Given the description of an element on the screen output the (x, y) to click on. 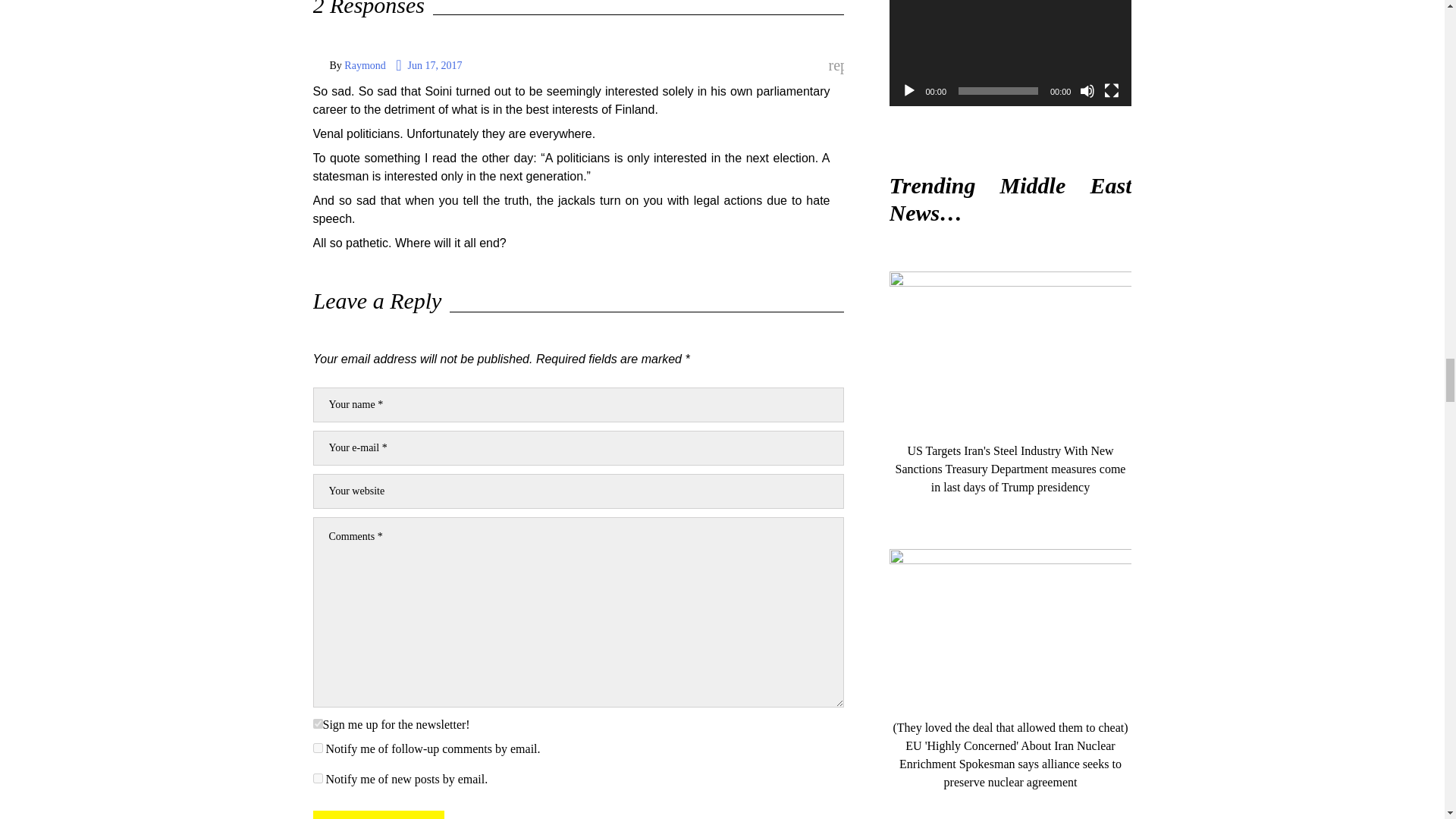
Raymond (364, 65)
subscribe (317, 777)
reply (835, 65)
Submit Comment (378, 814)
subscribe (317, 747)
1 (317, 723)
Jun 17, 2017 (428, 65)
